Given the description of an element on the screen output the (x, y) to click on. 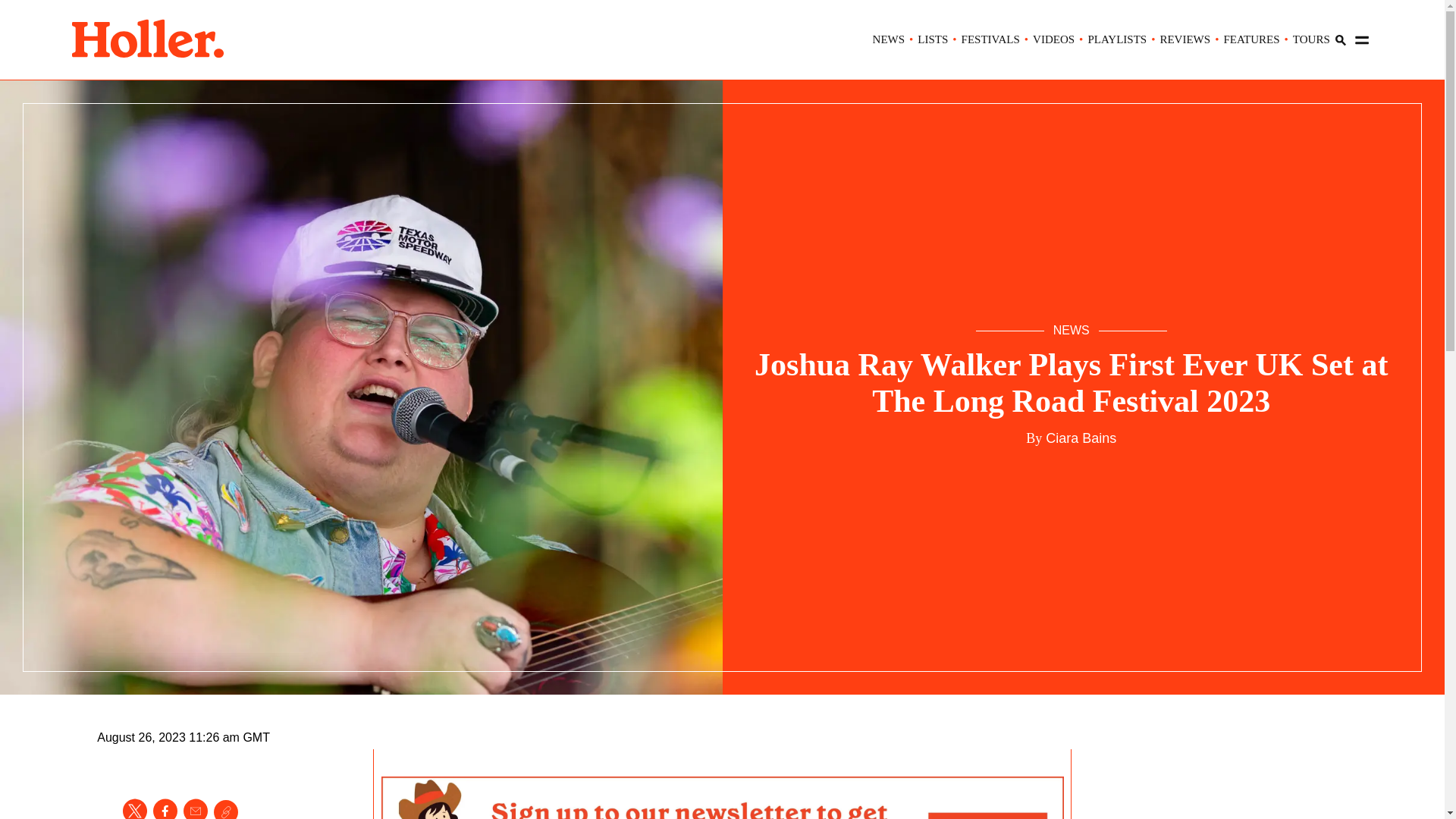
FESTIVALS (990, 39)
FEATURES (1251, 39)
NEWS (888, 39)
Ciara Bains (1079, 437)
PLAYLISTS (1117, 39)
LISTS (932, 39)
REVIEWS (1183, 39)
TOURS (1311, 39)
VIDEOS (1053, 39)
